Given the description of an element on the screen output the (x, y) to click on. 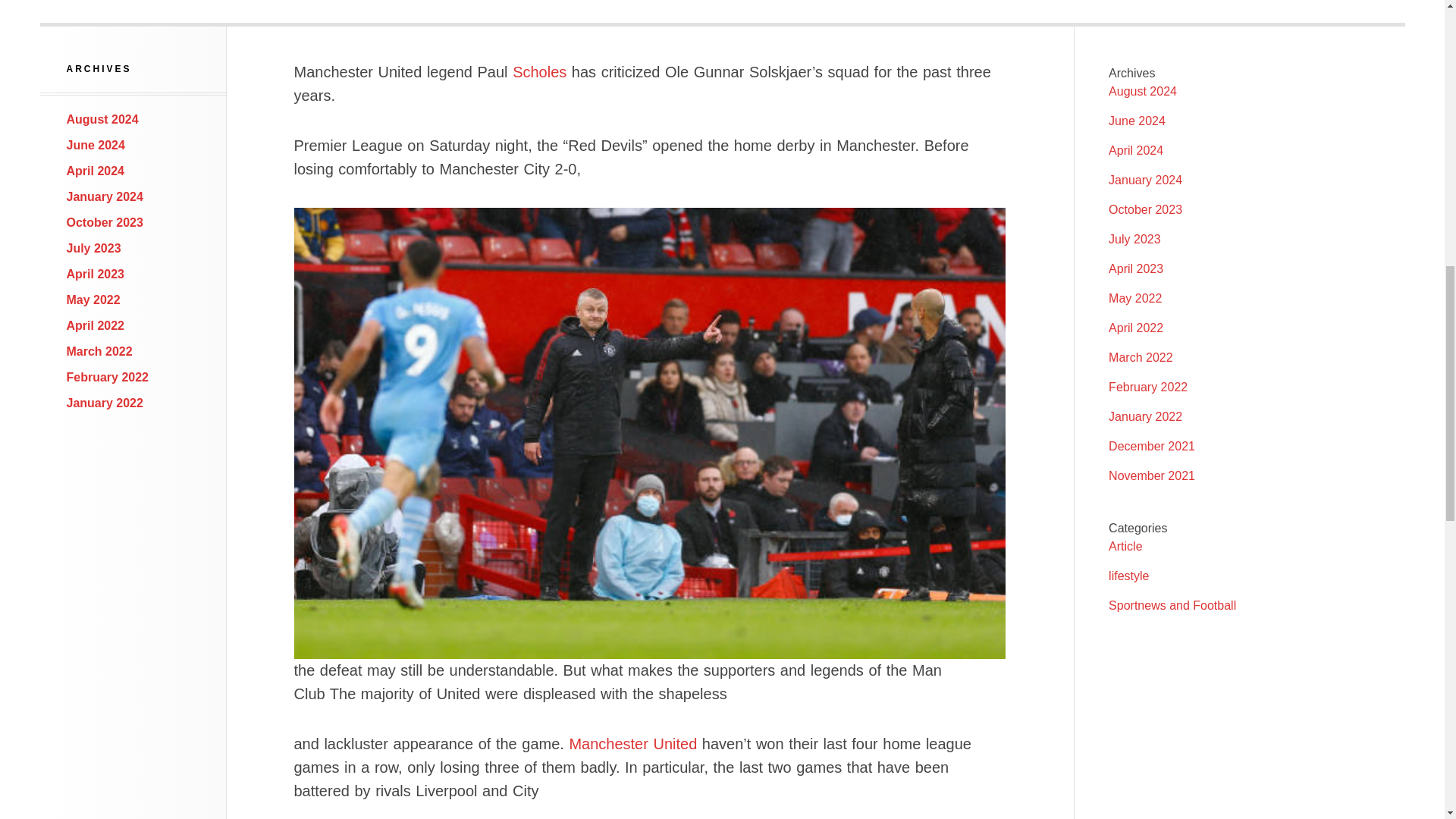
July 2023 (93, 247)
January 2024 (104, 196)
April 2024 (94, 170)
Manchester United (633, 743)
October 2023 (104, 222)
January 2022 (104, 402)
February 2022 (107, 377)
April 2024 (1135, 150)
January 2024 (1145, 179)
May 2022 (93, 299)
